Given the description of an element on the screen output the (x, y) to click on. 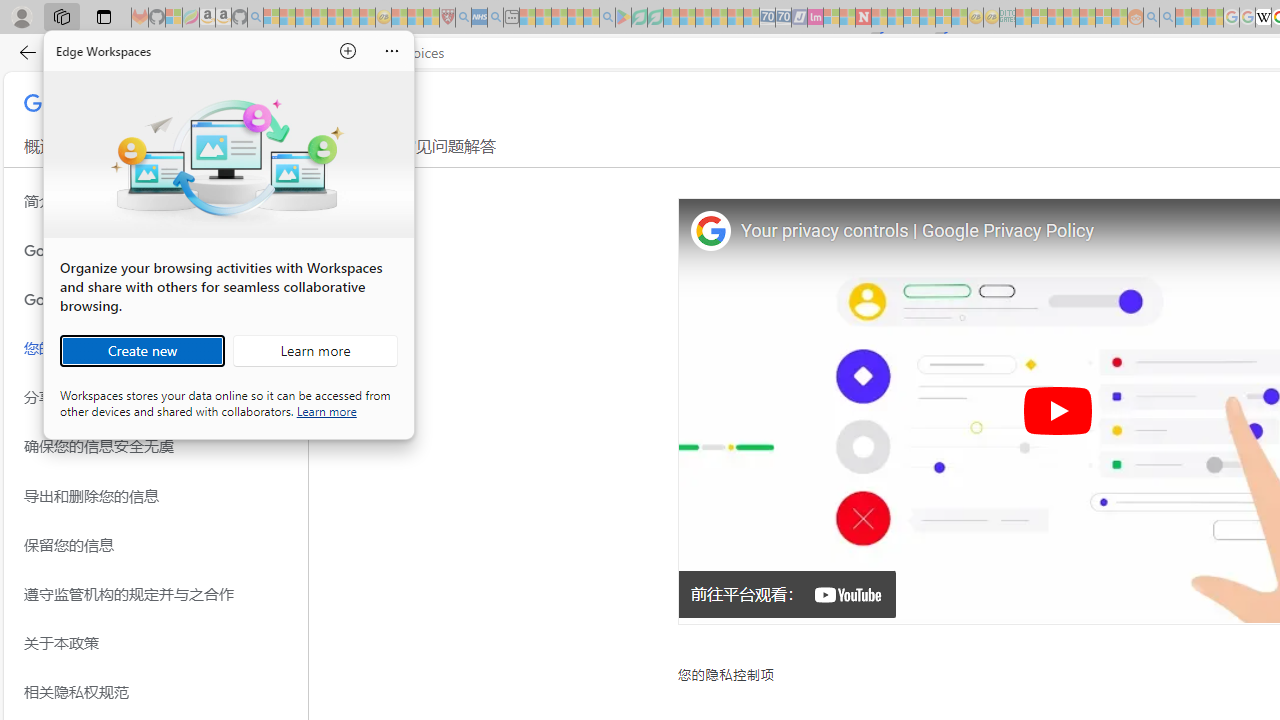
Create new workspace (142, 350)
Target page - Wikipedia (1263, 17)
